Given the description of an element on the screen output the (x, y) to click on. 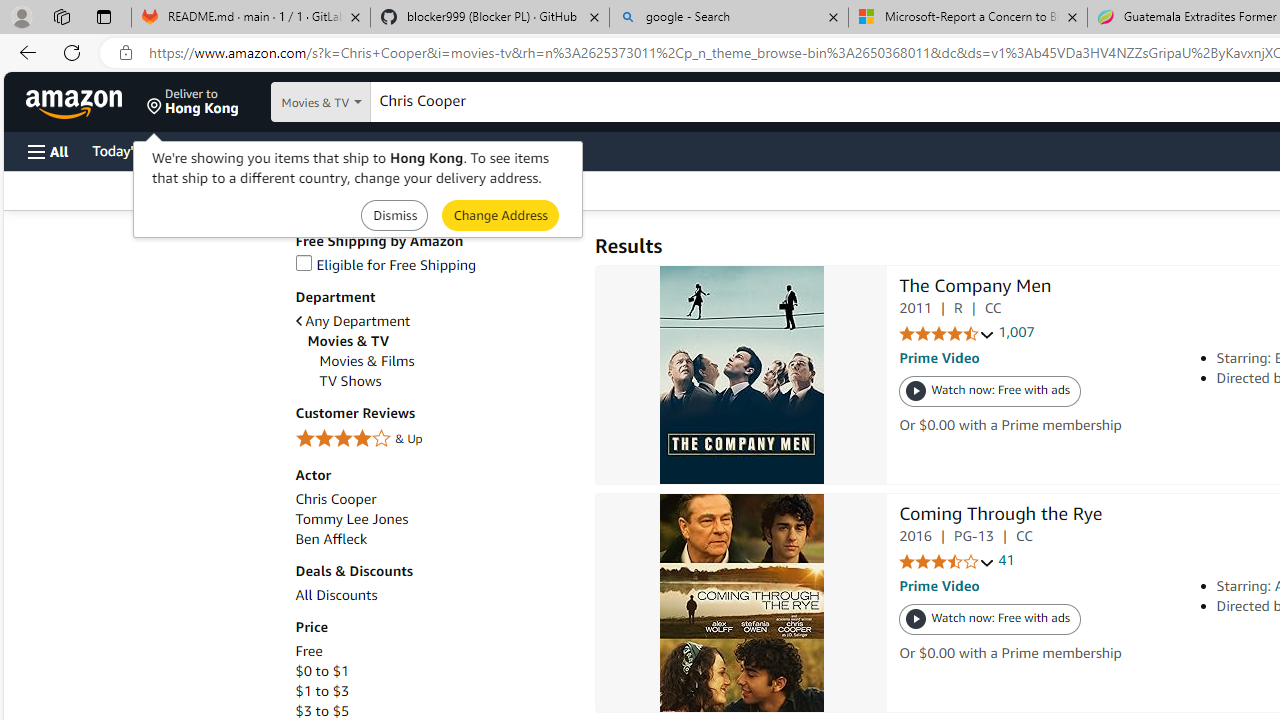
The Company Men (741, 375)
TV Shows (446, 381)
Registry (360, 150)
Watch now: Free with ads (989, 619)
All Discounts (335, 595)
Free (434, 651)
$3 to $5 (434, 711)
$1 to $3 (434, 691)
Amazon (76, 101)
Ben Affleck (434, 539)
